Given the description of an element on the screen output the (x, y) to click on. 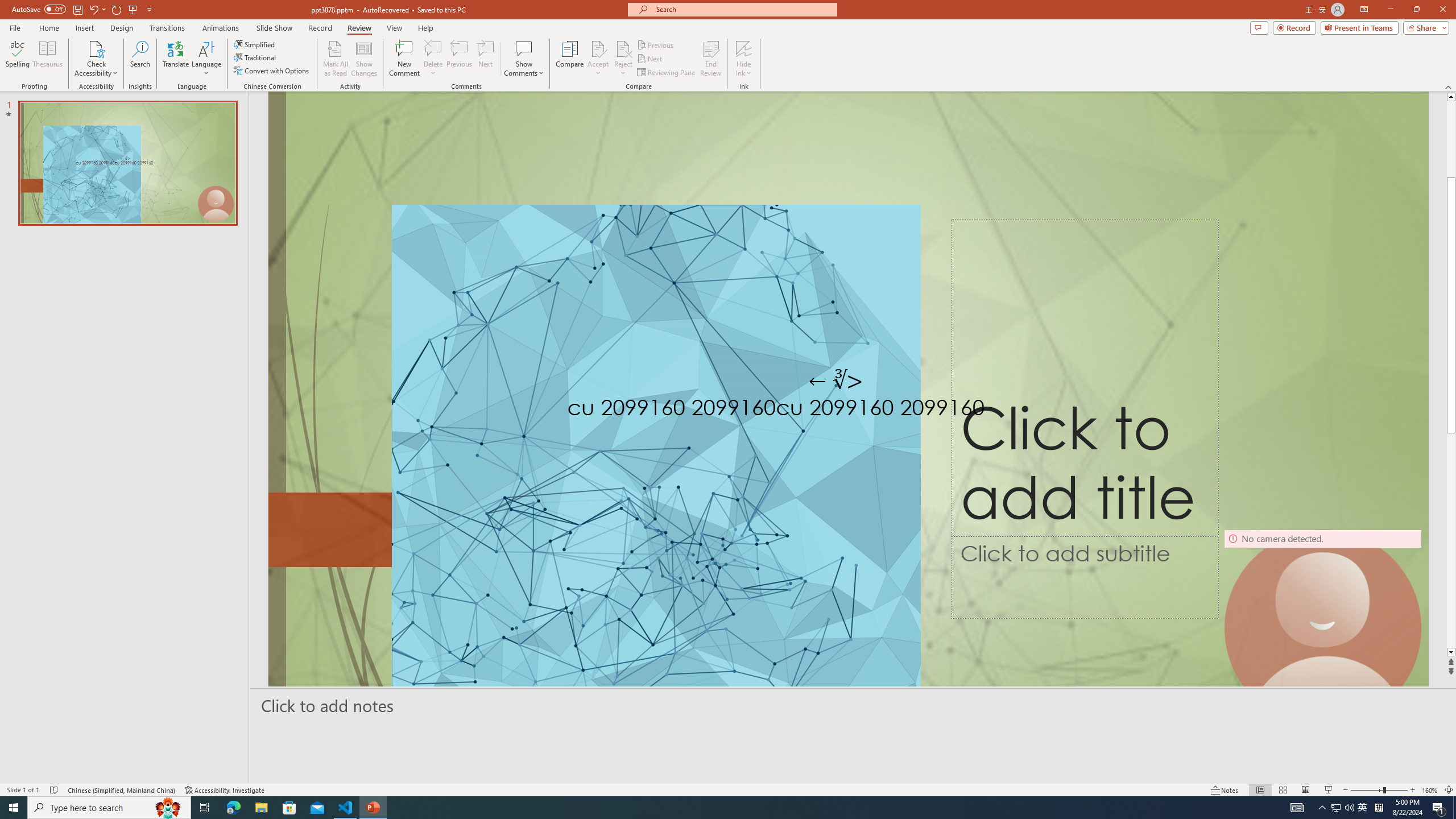
Zoom (1379, 790)
Convert with Options... (272, 69)
Design (122, 28)
Hide Ink (743, 48)
Spelling... (17, 58)
Next (649, 58)
Compare (569, 58)
Hide Ink (743, 58)
Present in Teams (1359, 27)
Simplified (254, 44)
Ribbon Display Options (1364, 9)
Customize Quick Access Toolbar (149, 9)
